Given the description of an element on the screen output the (x, y) to click on. 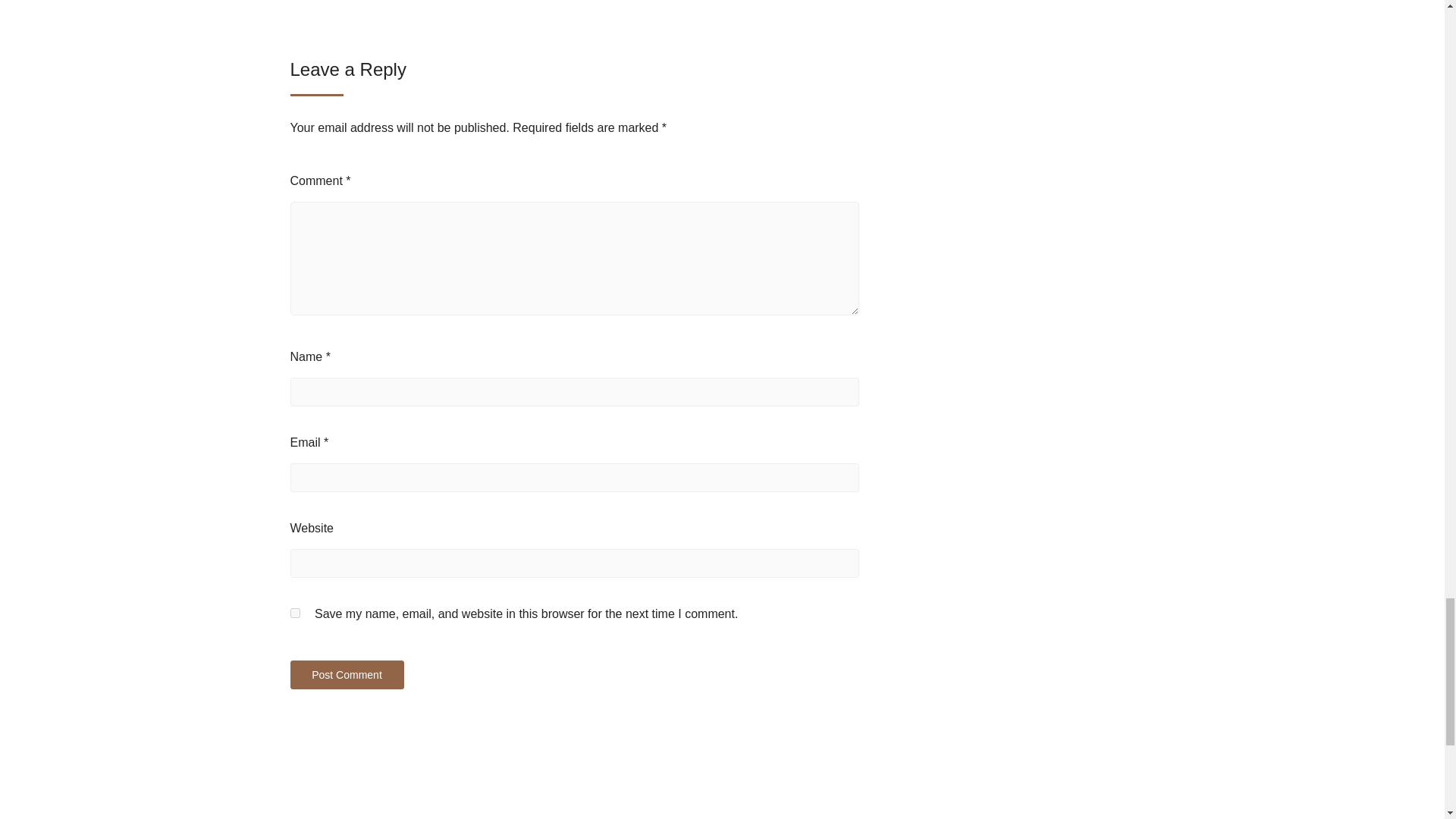
yes (294, 613)
Post Comment (346, 674)
Post Comment (346, 674)
